Given the description of an element on the screen output the (x, y) to click on. 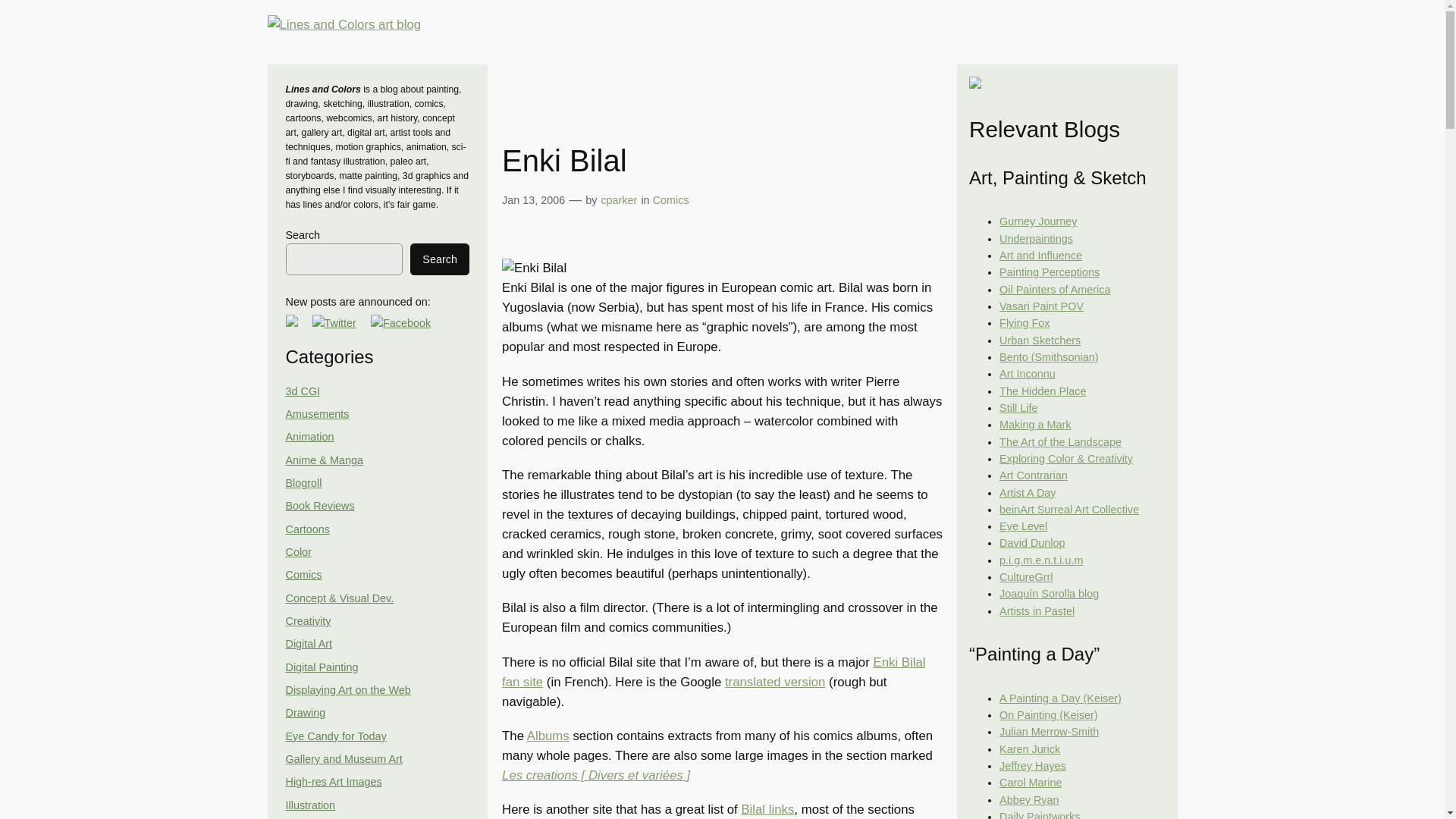
Animation (309, 436)
Displaying Art on the Web (347, 689)
High-res Art Images (333, 781)
Color (298, 551)
Digital Painting (321, 666)
Book Reviews (319, 505)
3d CGI (302, 390)
Illustration (309, 805)
Comics (303, 574)
Drawing (304, 712)
